Given the description of an element on the screen output the (x, y) to click on. 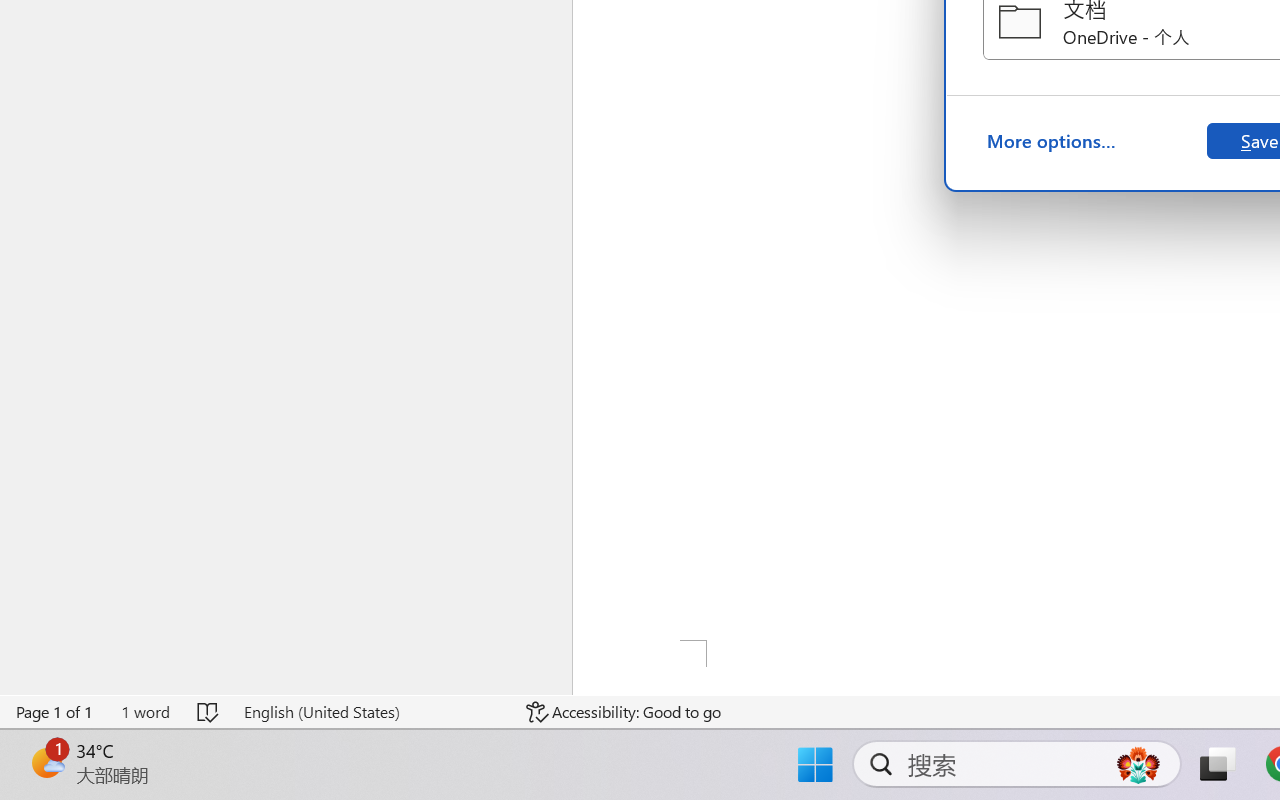
Page Number Page 1 of 1 (55, 712)
Spelling and Grammar Check No Errors (208, 712)
Language English (United States) (370, 712)
Accessibility Checker Accessibility: Good to go (623, 712)
AutomationID: DynamicSearchBoxGleamImage (1138, 764)
AutomationID: BadgeAnchorLargeTicker (46, 762)
Word Count 1 word (145, 712)
